Given the description of an element on the screen output the (x, y) to click on. 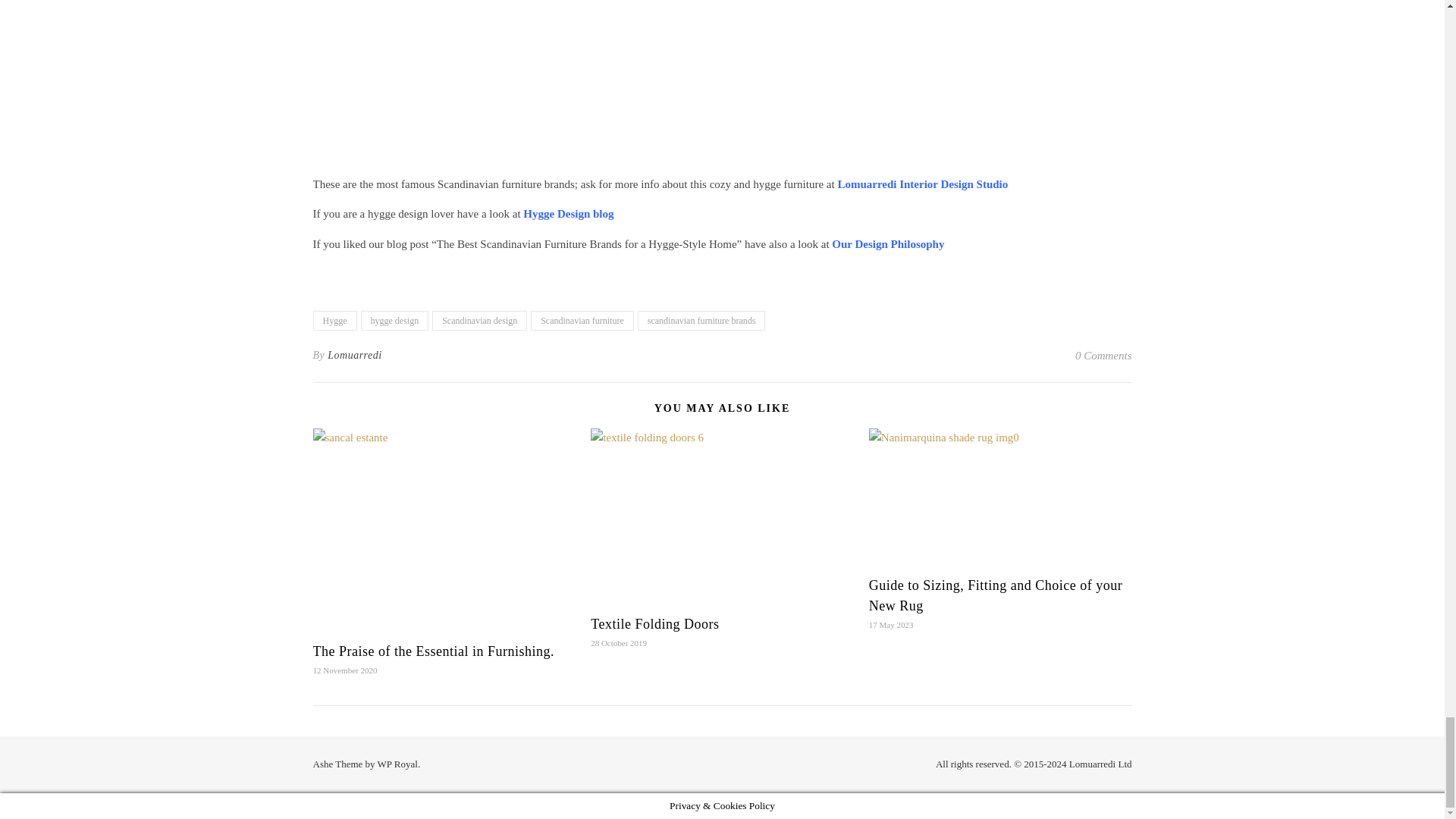
The Praise of the Essential in Furnishing. (433, 651)
scandinavian furniture brands (701, 320)
Scandinavian furniture (582, 320)
Lomuarredi Interior Design Studio (922, 184)
Our Design Philosophy (887, 244)
hygge design (395, 320)
Lomuarredi (354, 354)
Hygge Design blog (567, 214)
Hygge (334, 320)
Posts by Lomuarredi (354, 354)
0 Comments (1103, 354)
Scandinavian design (479, 320)
